Given the description of an element on the screen output the (x, y) to click on. 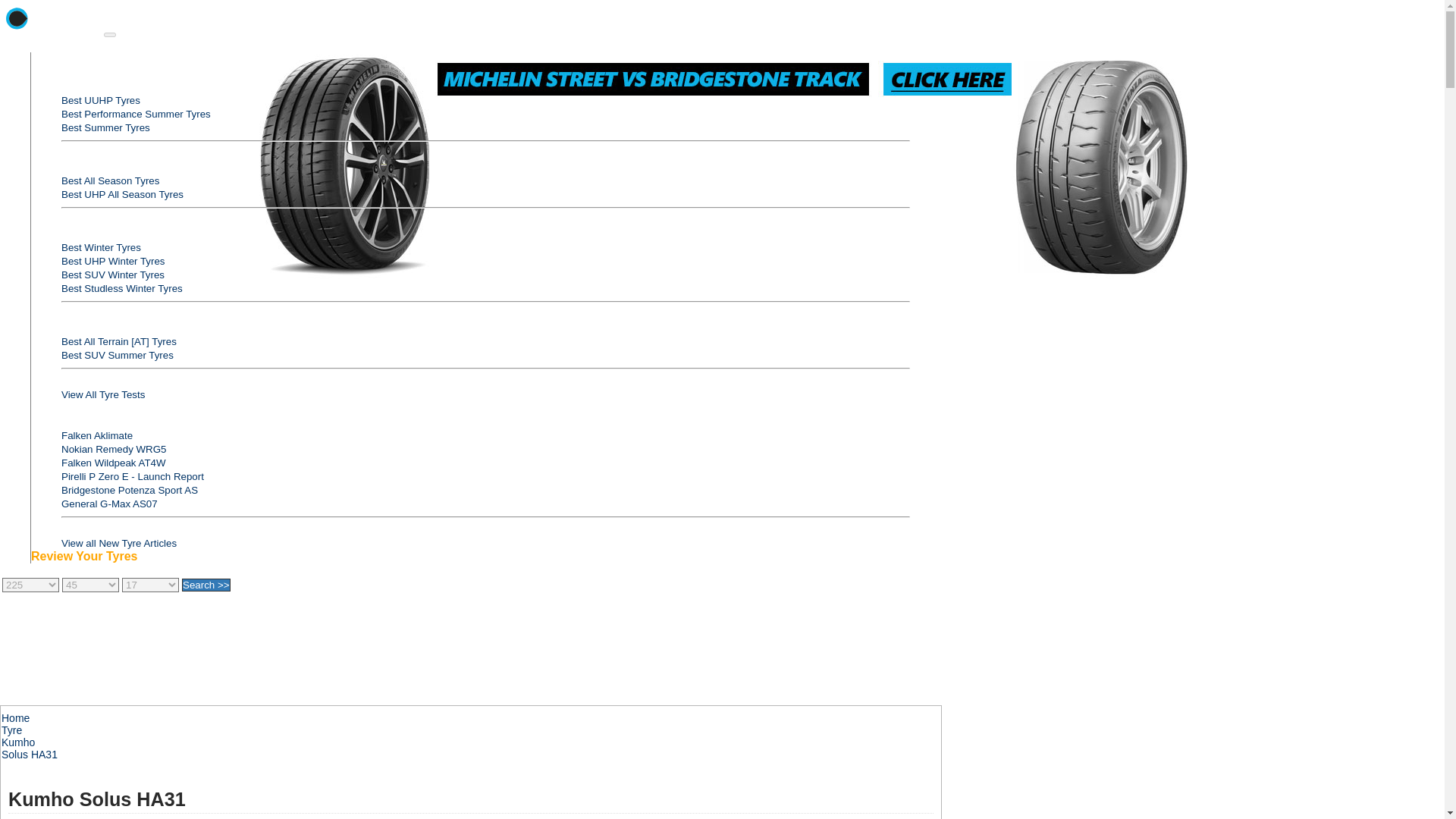
Best Winter Tyres (101, 247)
Best Performance Summer Tyres (136, 113)
Best SUV Winter Tyres (112, 274)
Best All Season Tyres (109, 180)
View All Tyres (68, 58)
Tyre (11, 729)
Best Summer Tyres (105, 127)
Best UHP Winter Tyres (113, 260)
General G-Max AS07 (109, 503)
View All Tyre Tests (102, 394)
